Given the description of an element on the screen output the (x, y) to click on. 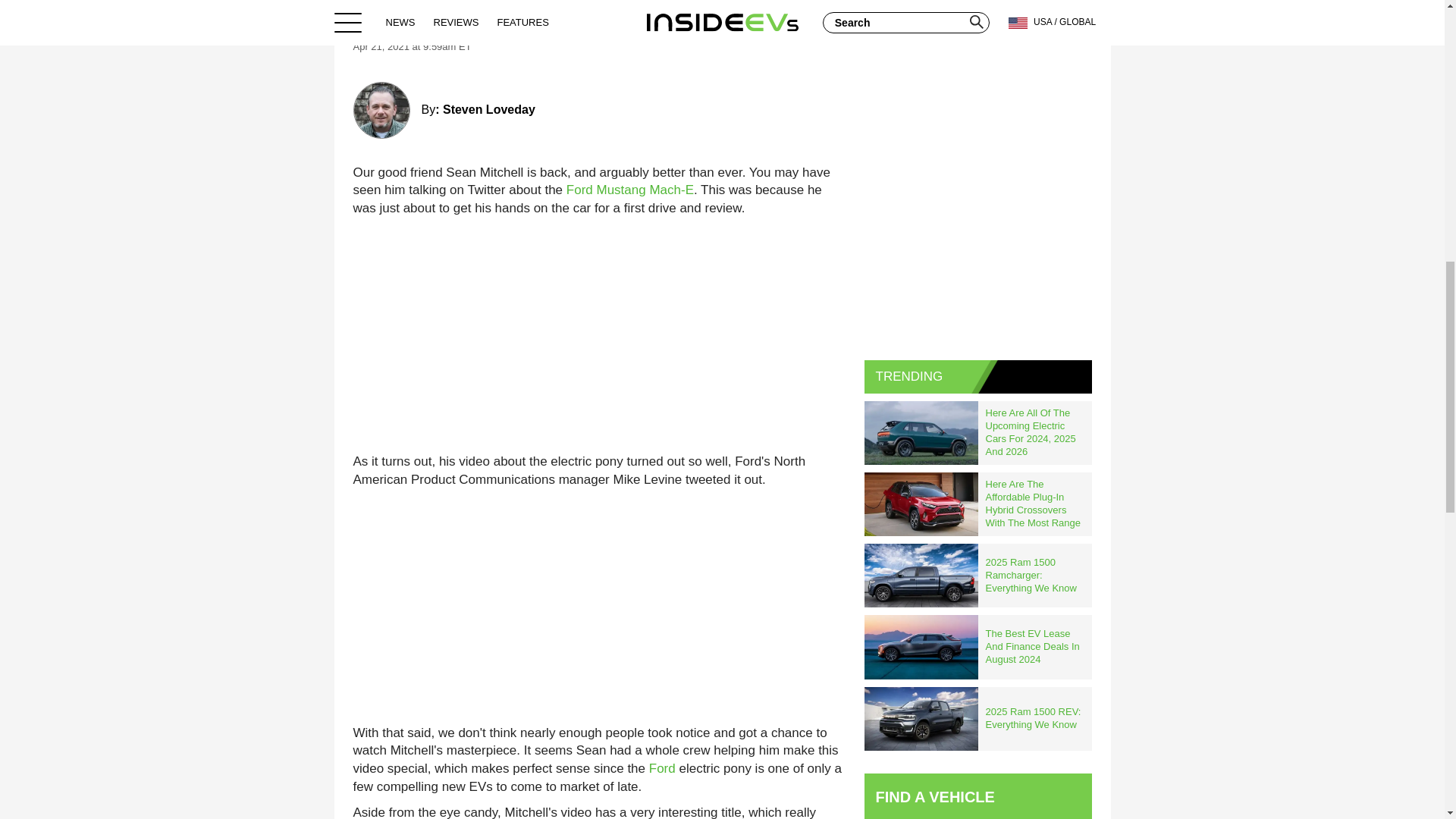
Ford (662, 768)
Ford Mustang Mach-E (630, 189)
Steven Loveday (488, 109)
